Given the description of an element on the screen output the (x, y) to click on. 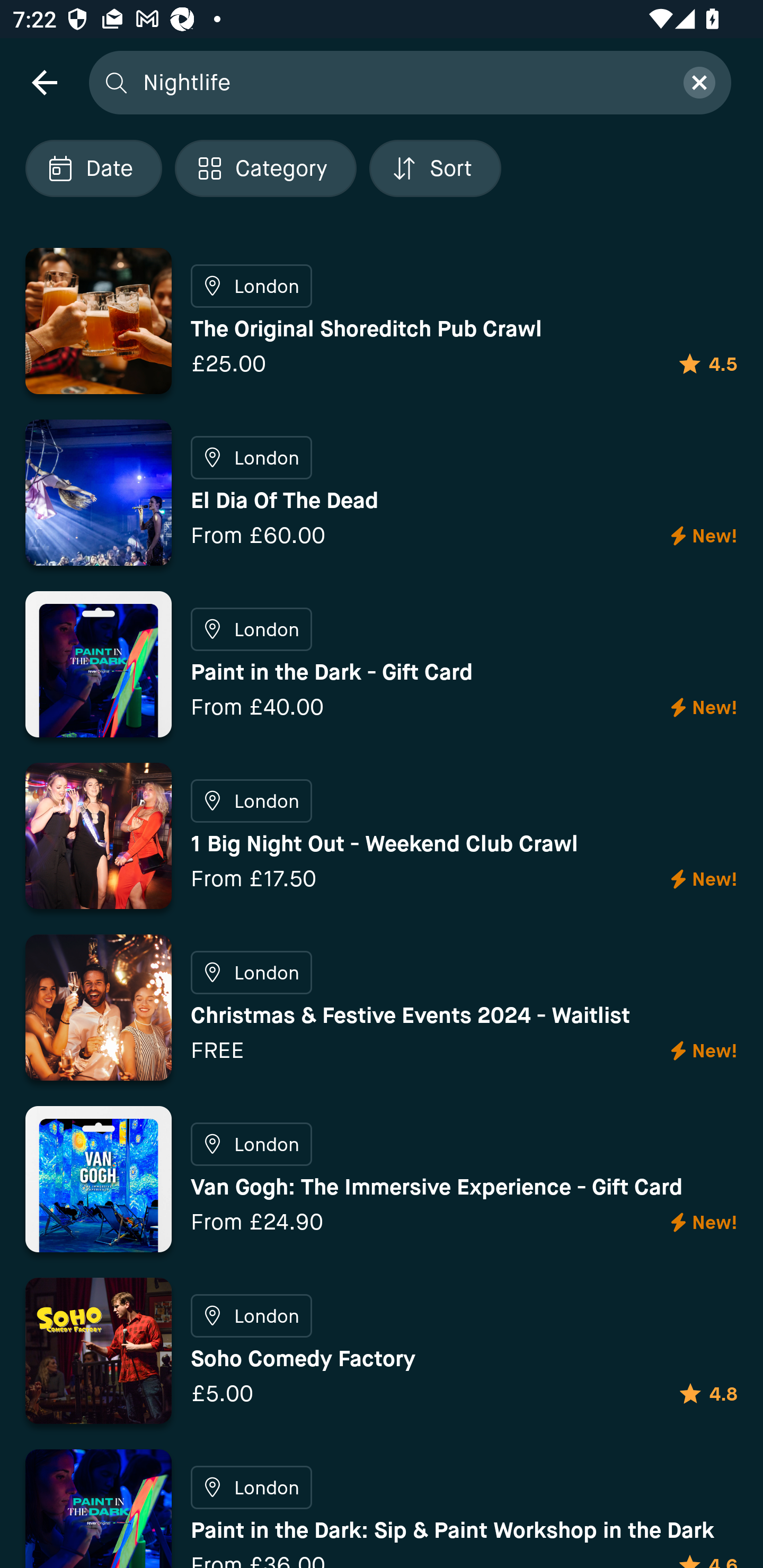
navigation icon (44, 81)
Nightlife (402, 81)
Localized description Date (93, 168)
Localized description Category (265, 168)
Localized description Sort (435, 168)
